Given the description of an element on the screen output the (x, y) to click on. 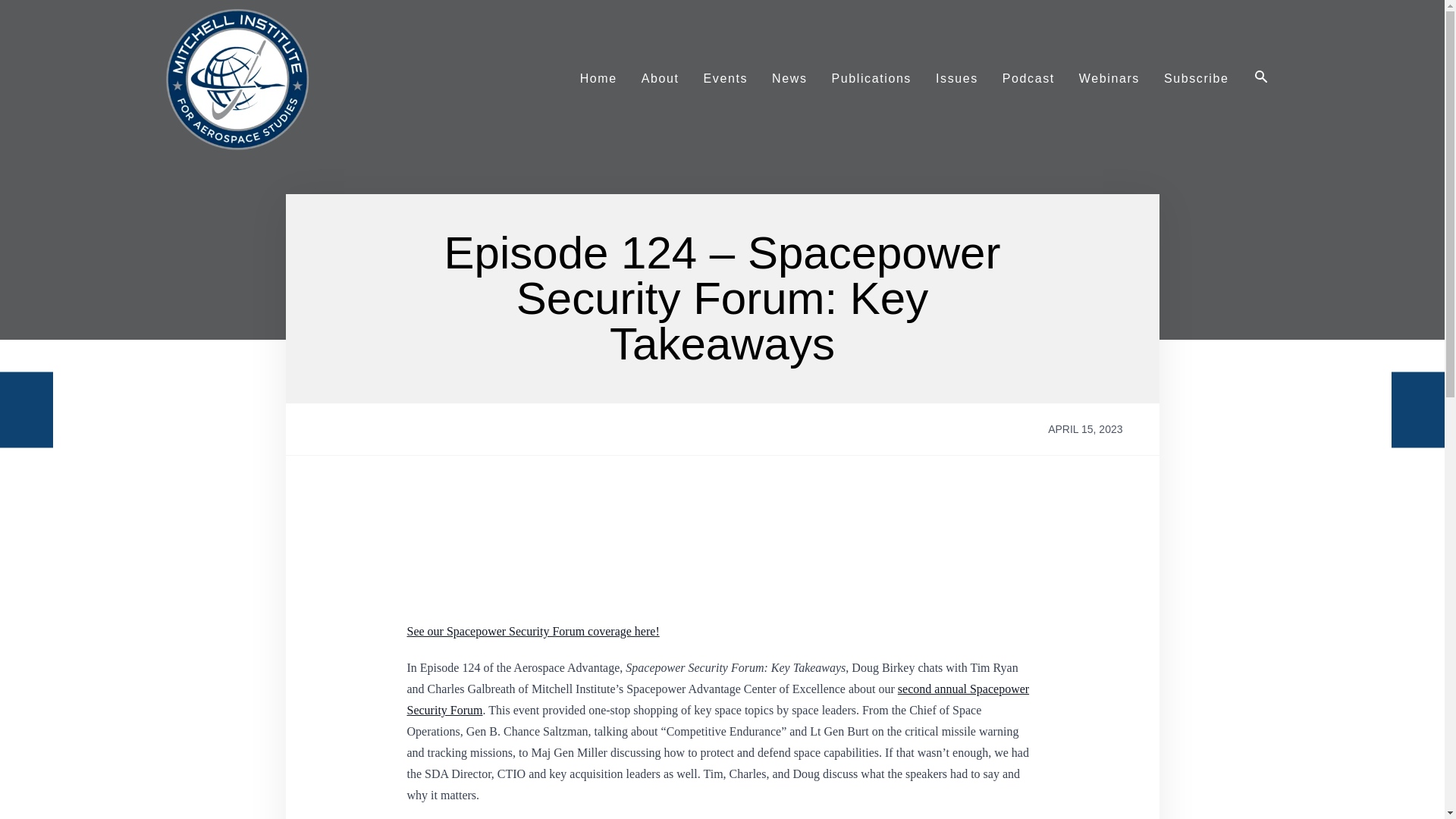
Publications (870, 78)
Events (725, 78)
News (789, 78)
Issues (956, 78)
Home (597, 78)
About (659, 78)
Subscribe (1196, 78)
Podcast (1028, 78)
Webinars (1109, 78)
